Given the description of an element on the screen output the (x, y) to click on. 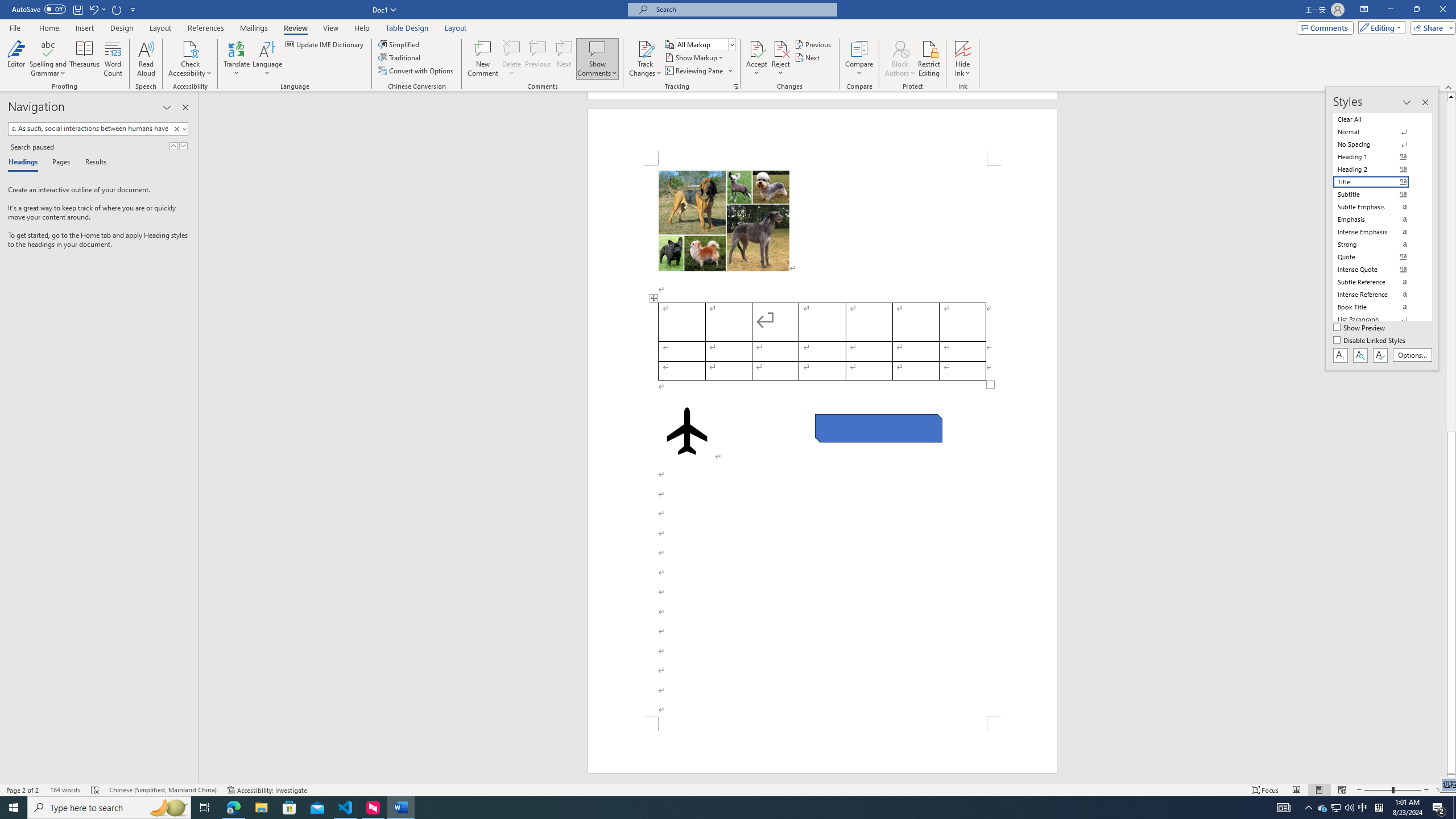
System (6, 6)
Editing (1379, 27)
Share (1430, 27)
Check Accessibility (189, 48)
Options... (1412, 354)
Read Aloud (145, 58)
Next Result (183, 145)
Close (1442, 9)
Display for Review (705, 44)
Page up (1450, 266)
Reviewing Pane (698, 69)
Task Pane Options (167, 107)
Subtle Reference (1377, 282)
Change Tracking Options... (735, 85)
Print Layout (1318, 790)
